Given the description of an element on the screen output the (x, y) to click on. 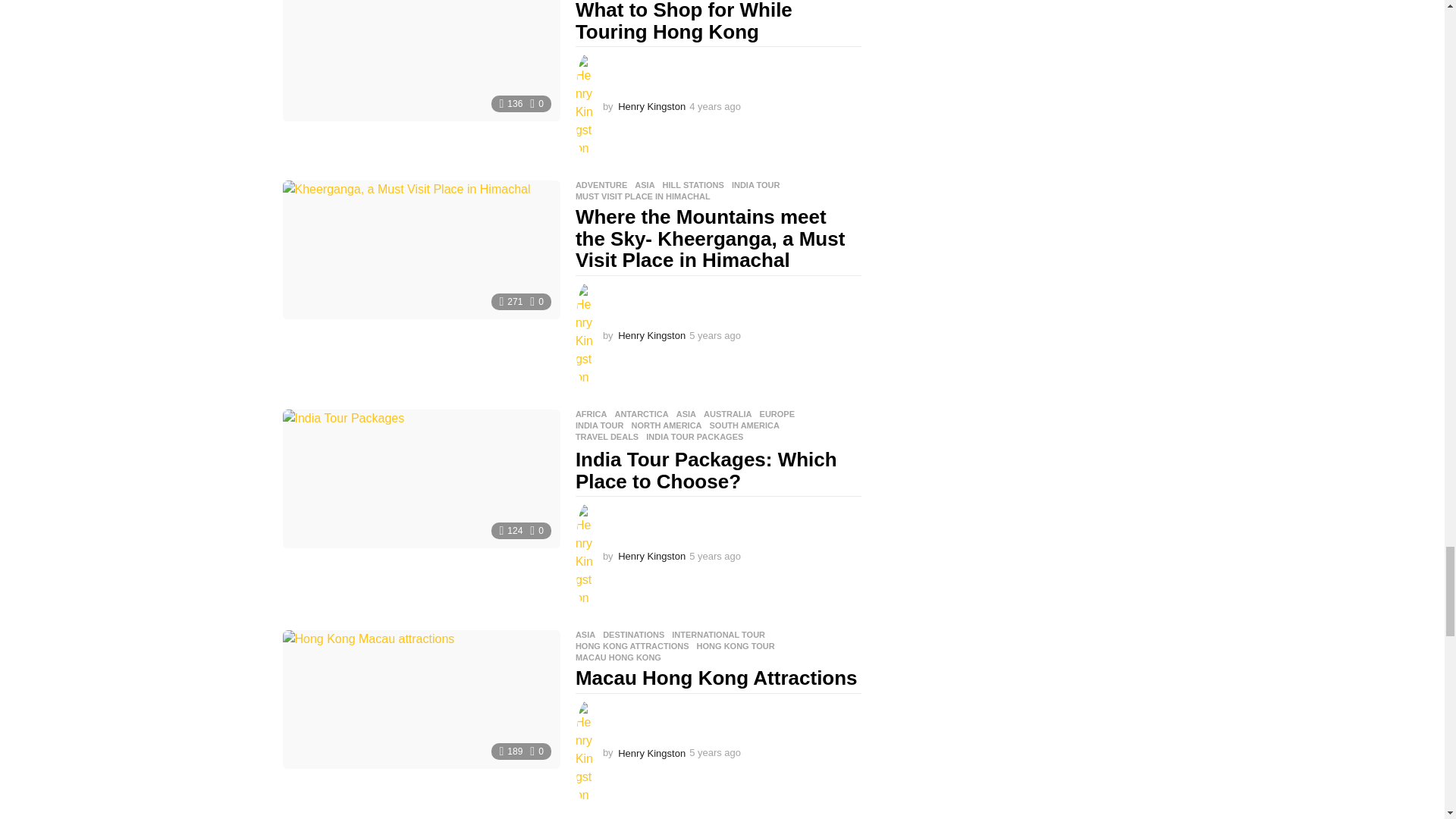
India Tour Packages: Which Place to Choose? (420, 478)
Macau Hong Kong Attractions (420, 699)
What to Shop for While Touring Hong Kong (420, 60)
